Given the description of an element on the screen output the (x, y) to click on. 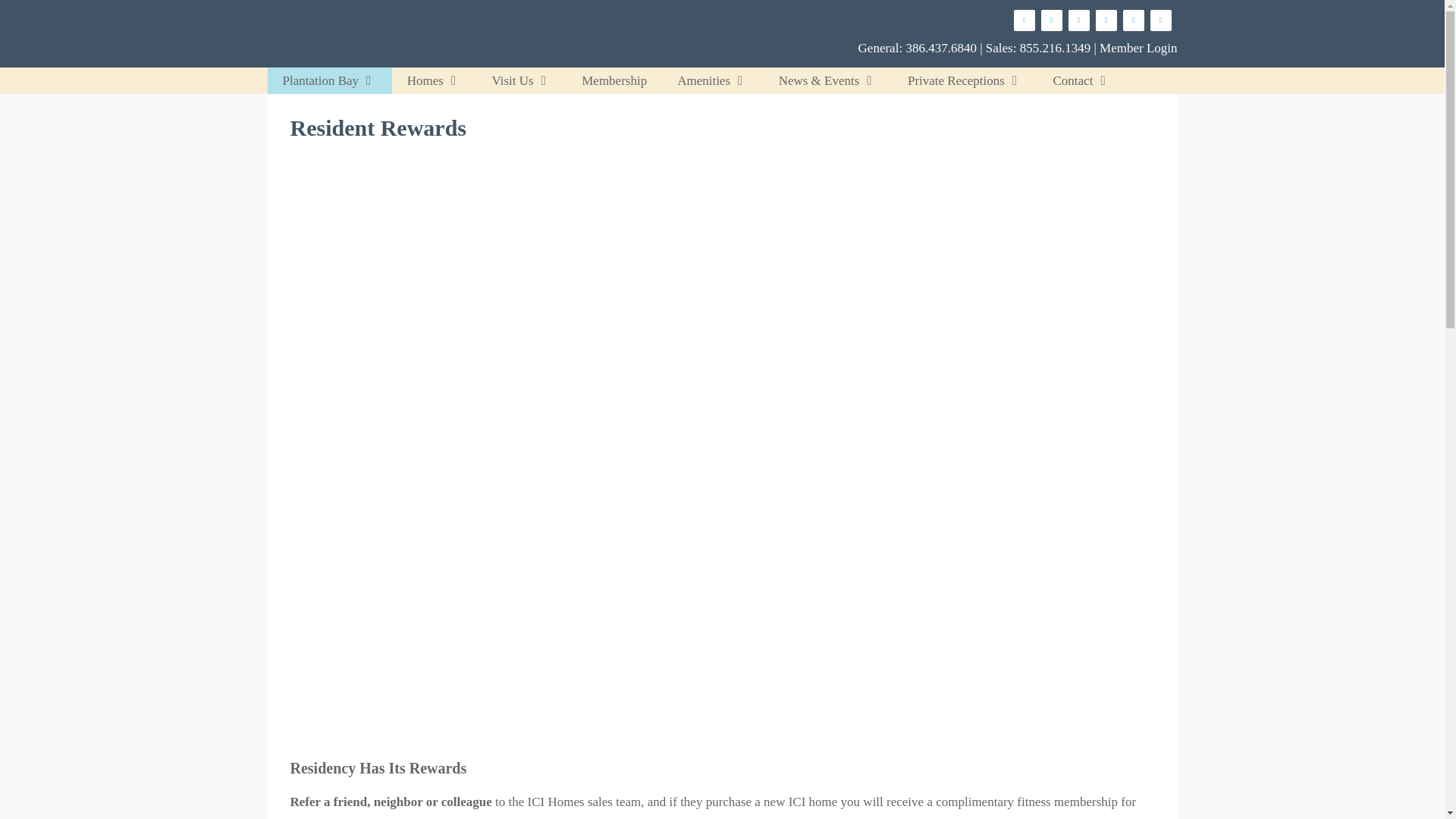
Instagram (1051, 20)
Membership (614, 80)
YouTube (1078, 20)
Pinterest (1105, 20)
LinkedIn (1132, 20)
Member Login (1137, 47)
Plantation Bay (328, 80)
Facebook (1023, 20)
386.437.6840 (940, 47)
Homes (434, 80)
Amenities (712, 80)
Twitter (1160, 20)
855.216.1349 (1055, 47)
Visit Us (521, 80)
